Given the description of an element on the screen output the (x, y) to click on. 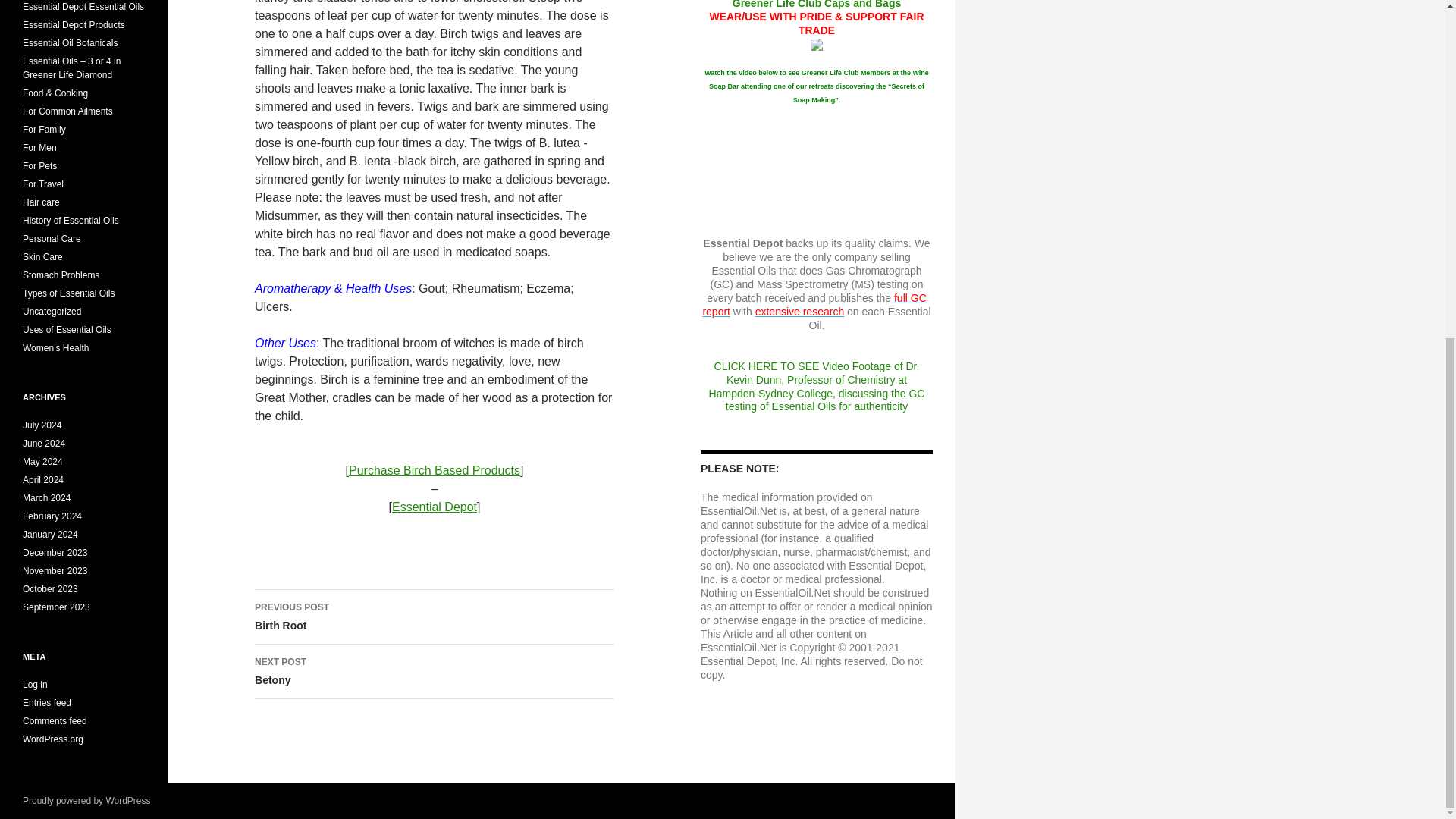
Purchase Birch Based Products (434, 671)
Essential Depot (434, 470)
full GC report (434, 506)
extensive research (813, 304)
